Given the description of an element on the screen output the (x, y) to click on. 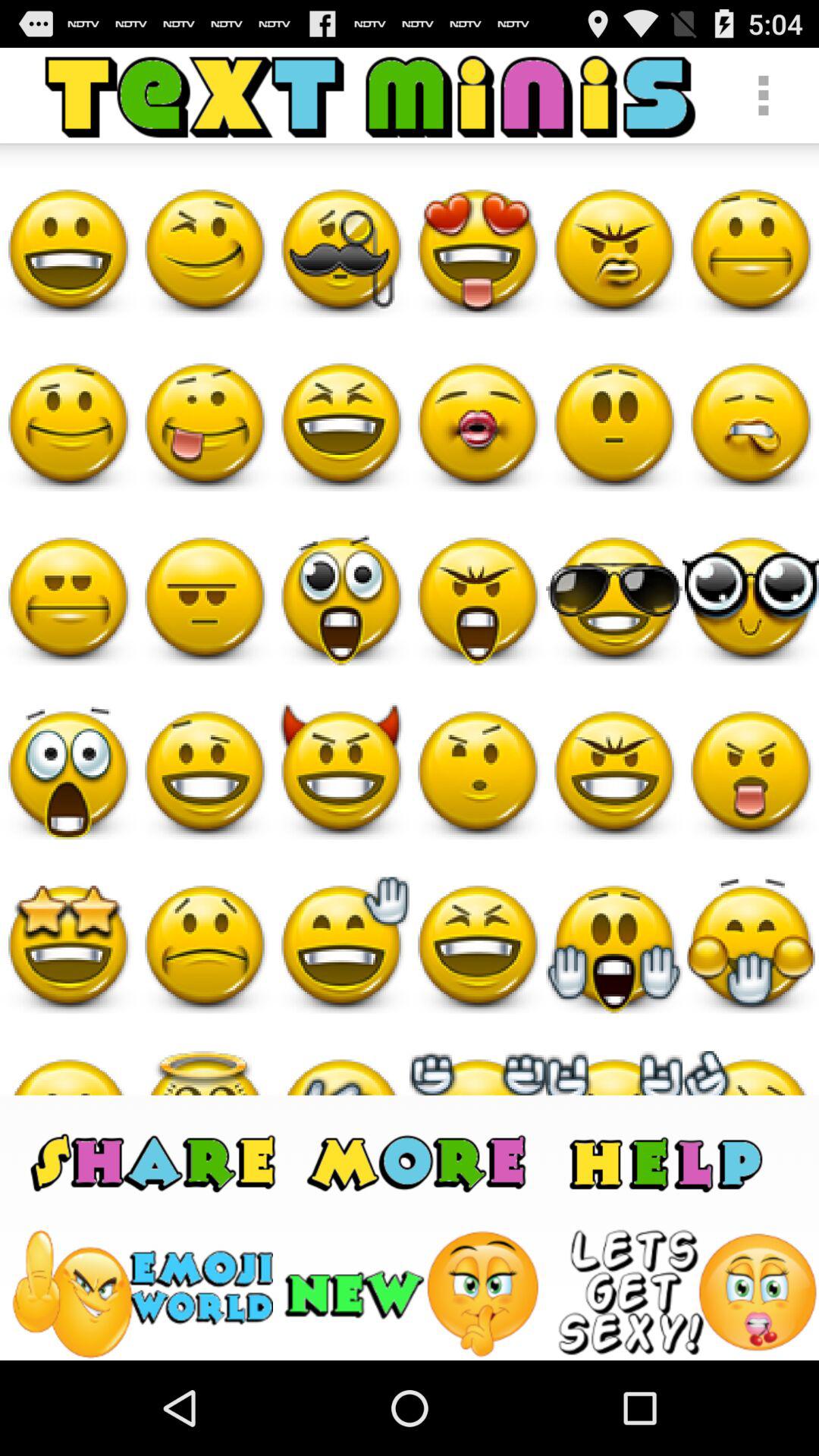
share emojis (153, 1161)
